Given the description of an element on the screen output the (x, y) to click on. 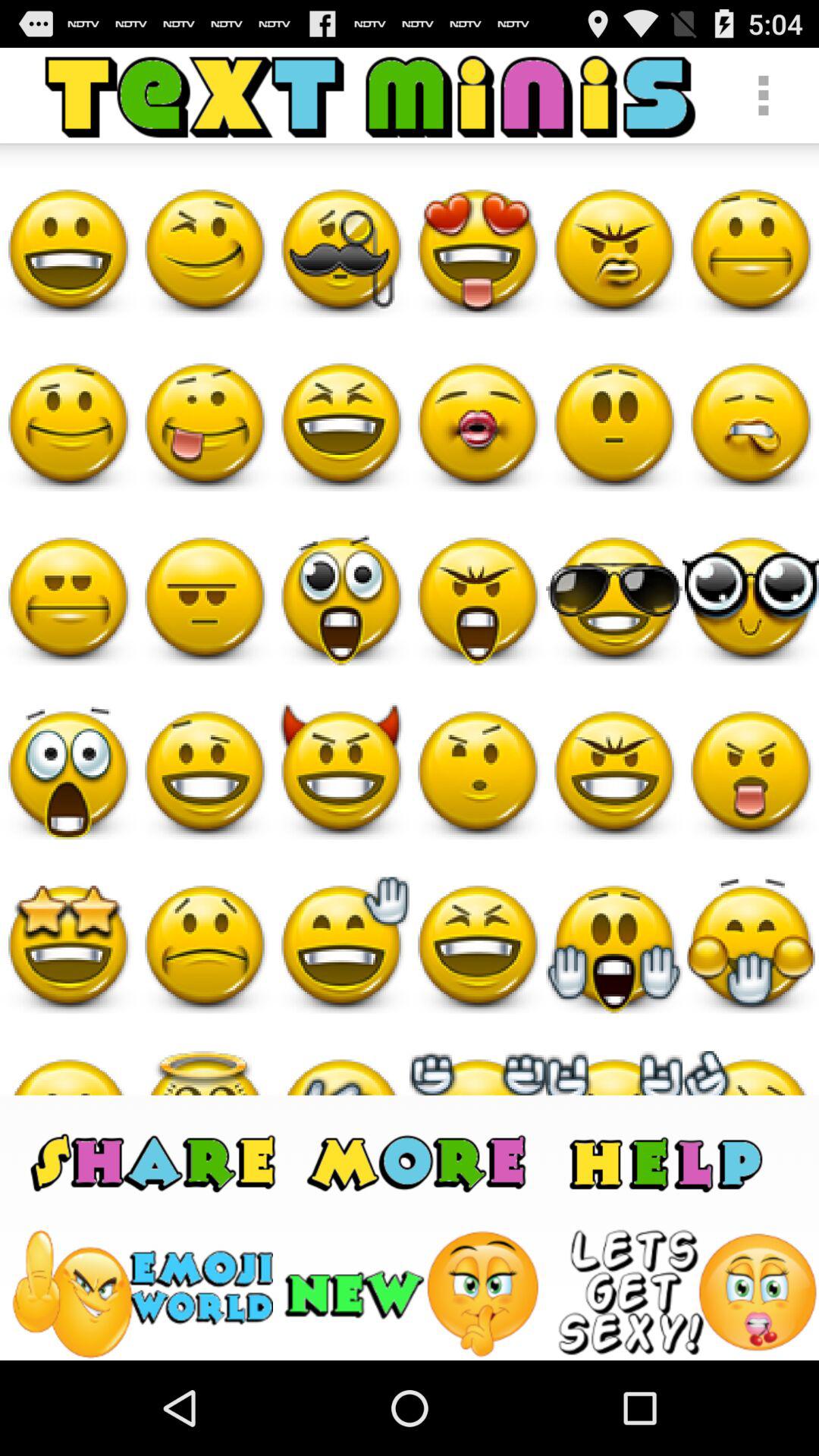
share emojis (153, 1161)
